Given the description of an element on the screen output the (x, y) to click on. 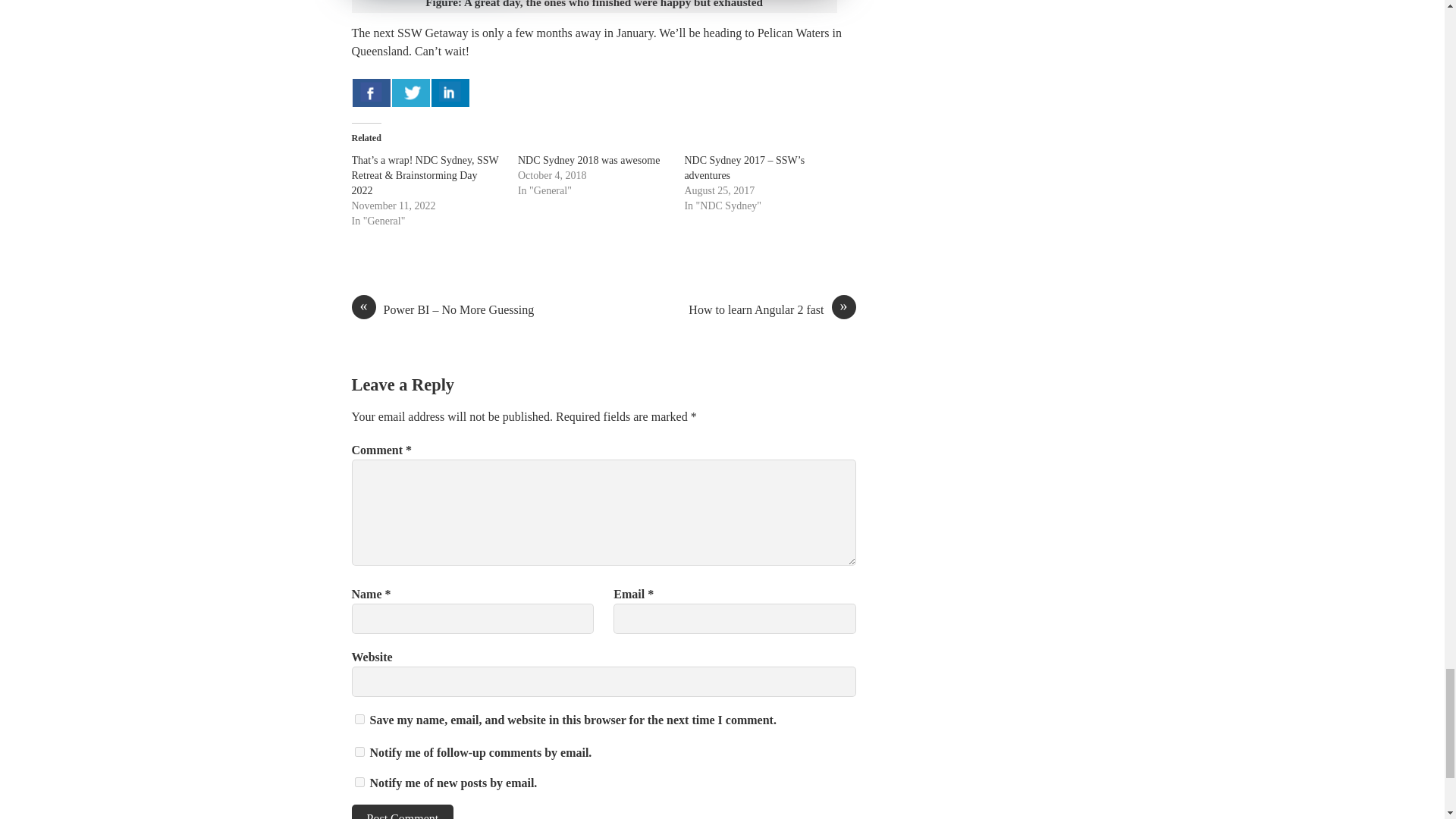
yes (360, 718)
NDC Sydney 2018 was awesome (588, 160)
Post Comment (403, 811)
Post Comment (403, 811)
Share On Twitter (410, 91)
NDC Sydney 2018 was awesome (588, 160)
subscribe (360, 751)
Share On Linkedin (449, 91)
Share On Facebook (371, 91)
subscribe (360, 782)
